Given the description of an element on the screen output the (x, y) to click on. 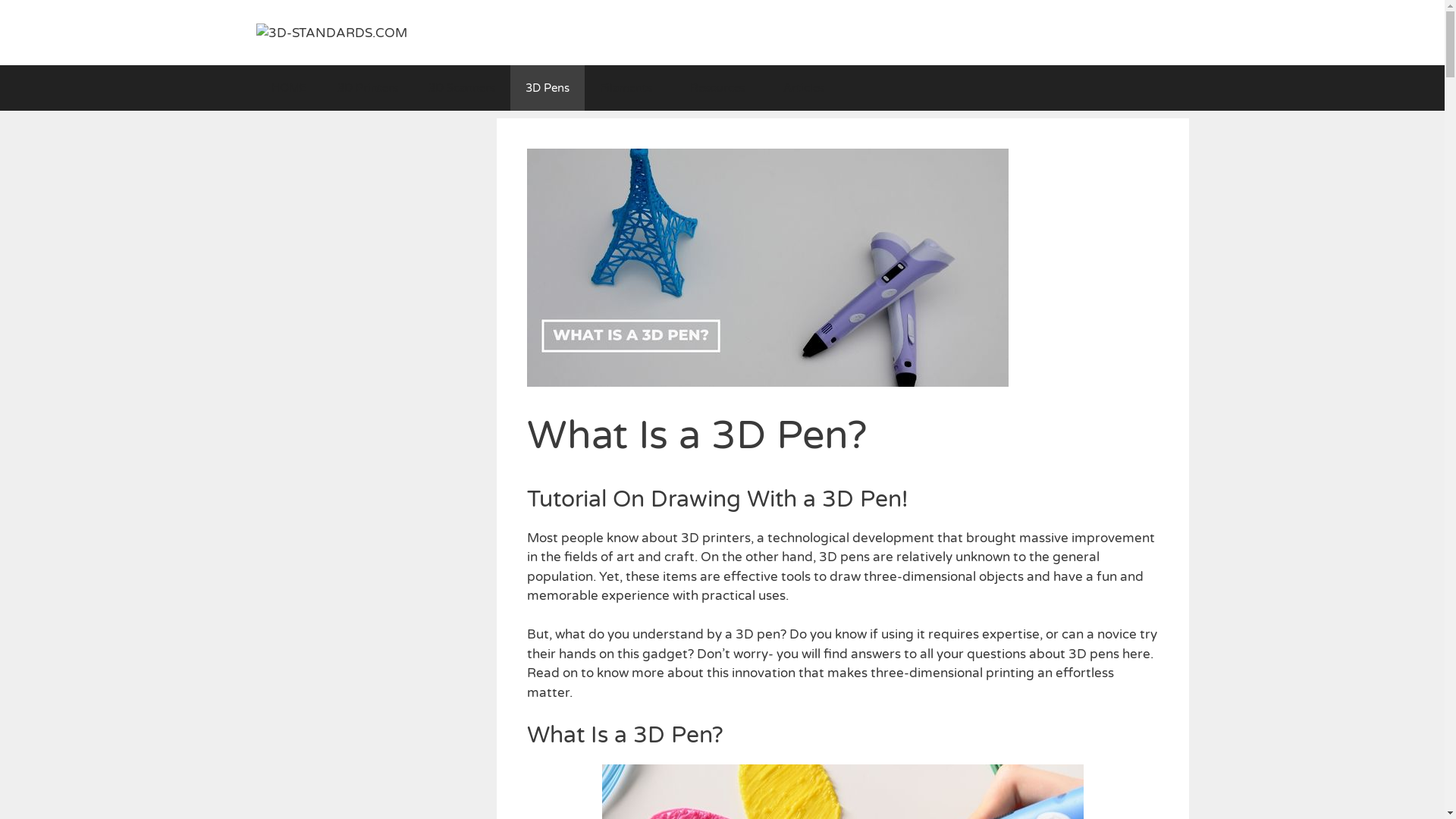
Articles Element type: text (806, 87)
3D Printers Element type: text (366, 87)
3D Pens Element type: text (546, 87)
3D Scanners Element type: text (460, 87)
Filaments Element type: text (628, 87)
Resources Element type: text (721, 87)
HOME Element type: text (289, 87)
